Given the description of an element on the screen output the (x, y) to click on. 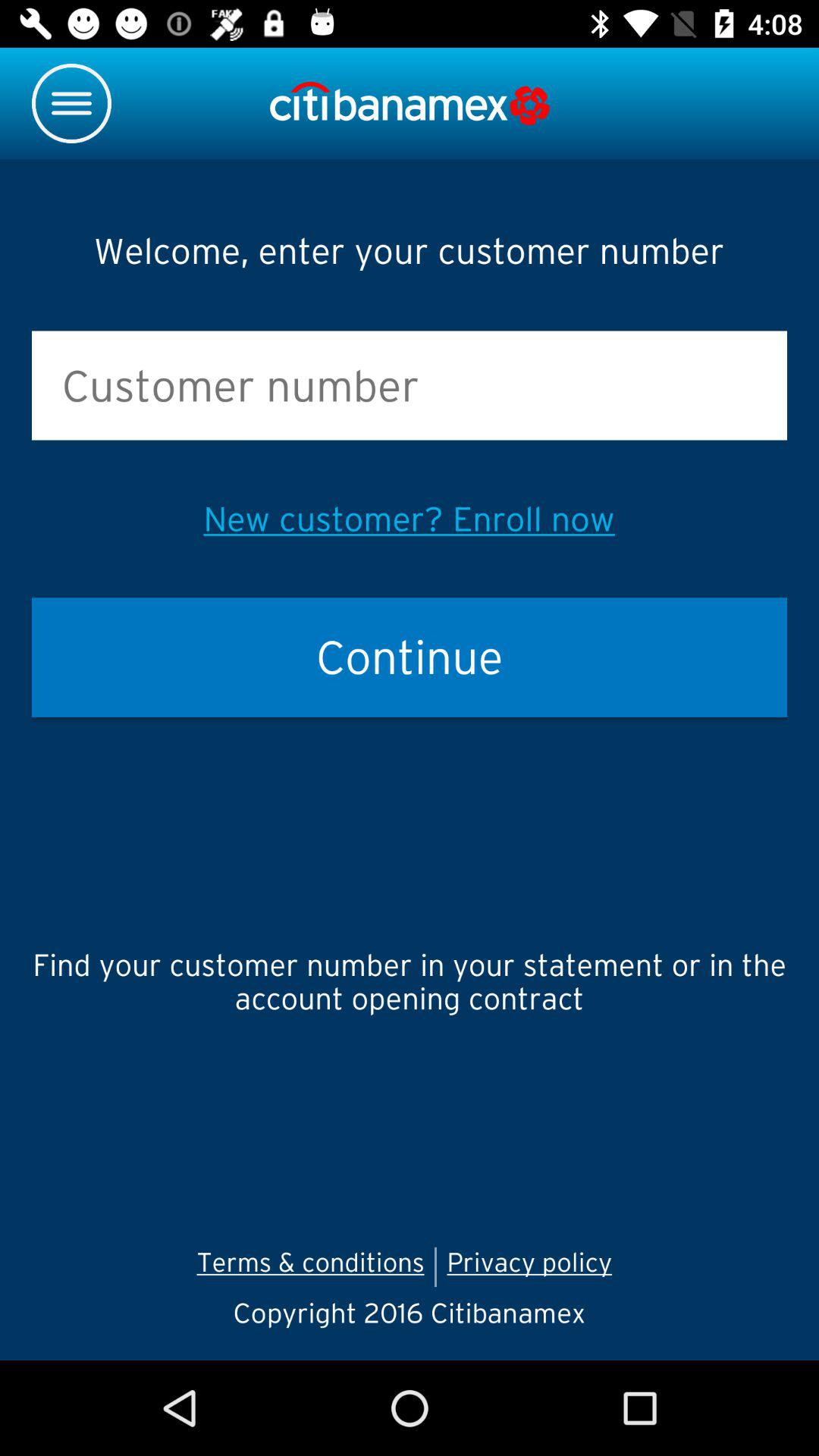
swipe to the new customer enroll icon (408, 518)
